Given the description of an element on the screen output the (x, y) to click on. 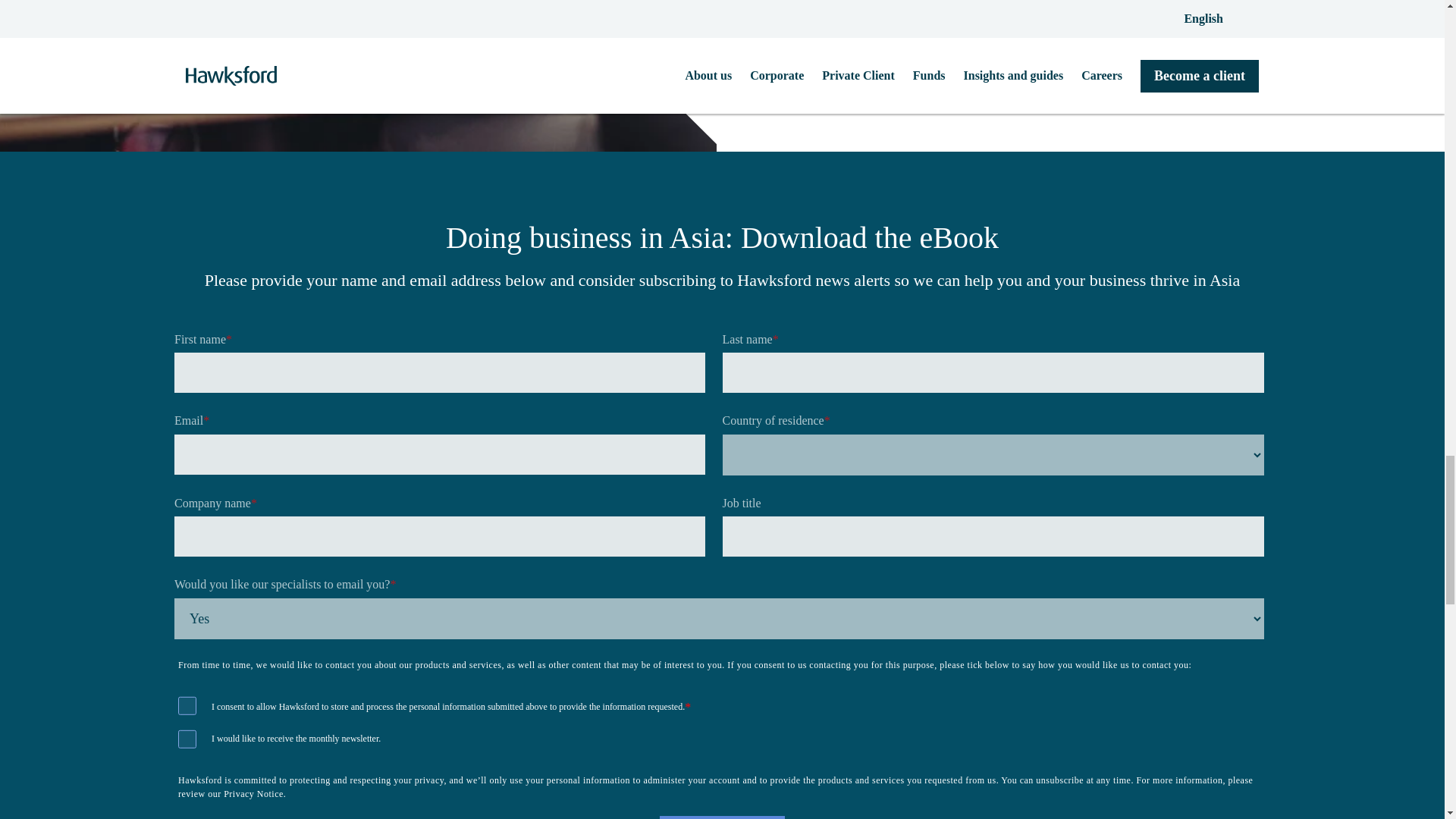
Download (721, 817)
true (186, 739)
true (186, 705)
